Given the description of an element on the screen output the (x, y) to click on. 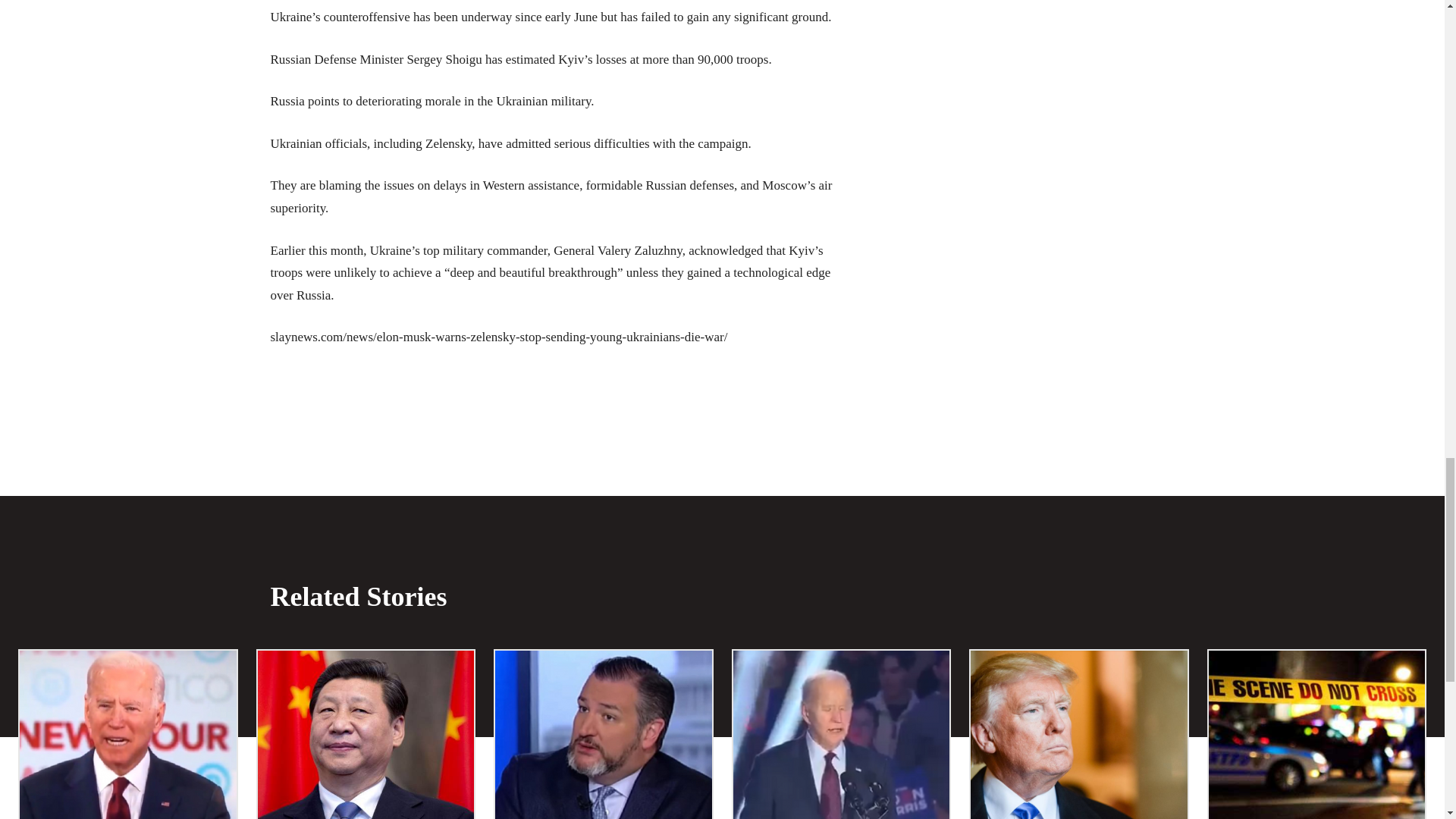
ALERT: China Makes Move To Kick Off WWIII (365, 734)
Ted Cruz ROCKS 2024 Election With Big Announcement (603, 734)
